Given the description of an element on the screen output the (x, y) to click on. 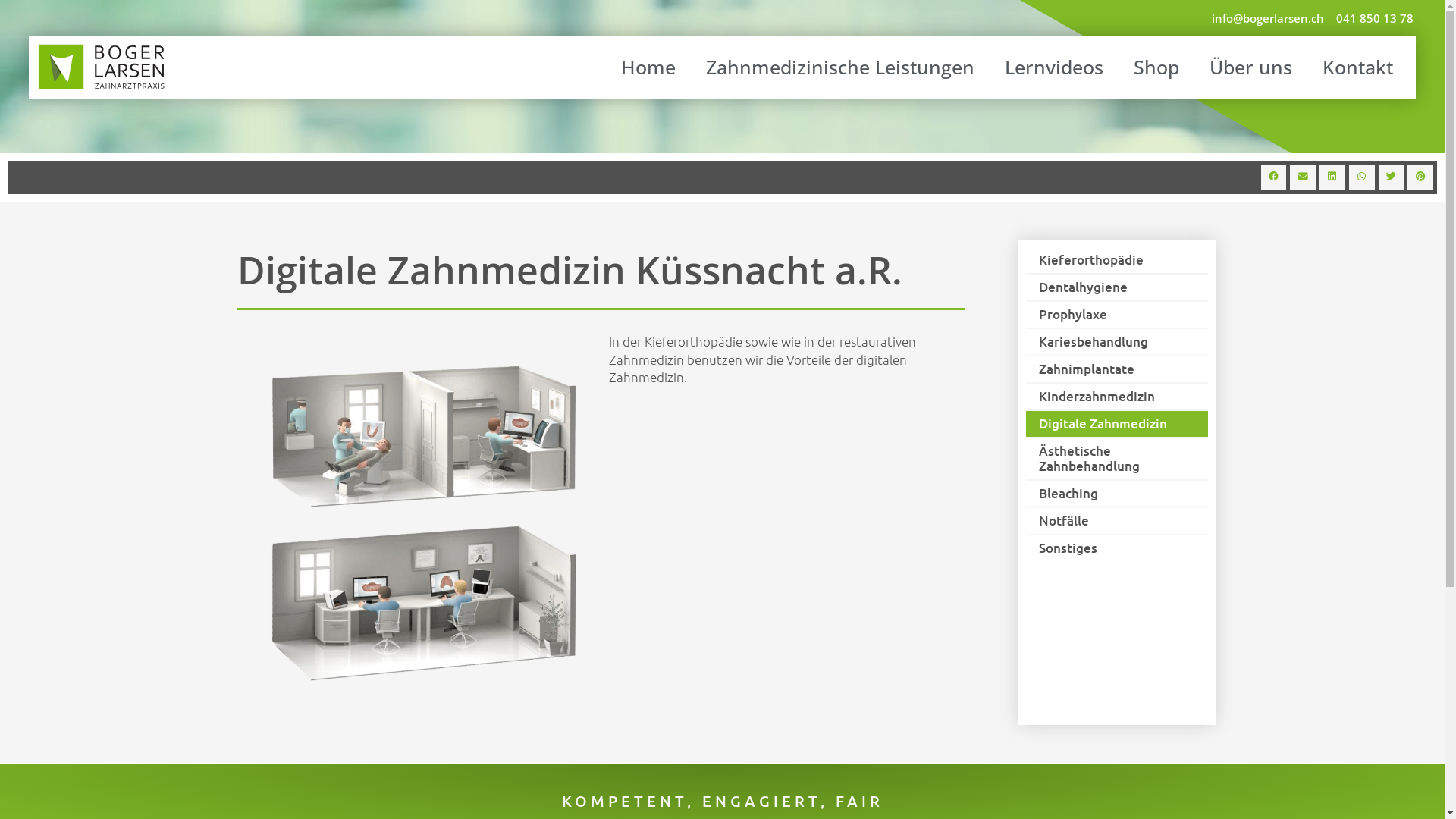
Kinderzahnmedizin Element type: text (1116, 396)
Prophylaxe Element type: text (1116, 314)
Dentalhygiene Element type: text (1116, 287)
Zahnimplantate Element type: text (1116, 369)
Digitale Zahnmedizin Element type: text (1116, 423)
Kontakt Element type: text (1357, 66)
info@bogerlarsen.ch Element type: text (1267, 18)
Zahnmedizinische Leistungen Element type: text (840, 66)
Lernvideos Element type: text (1054, 66)
Kariesbehandlung Element type: text (1116, 341)
041 850 13 78 Element type: text (1374, 18)
Bleaching Element type: text (1116, 493)
Sonstiges Element type: text (1116, 548)
Home Element type: text (648, 66)
Shop Element type: text (1156, 66)
